Given the description of an element on the screen output the (x, y) to click on. 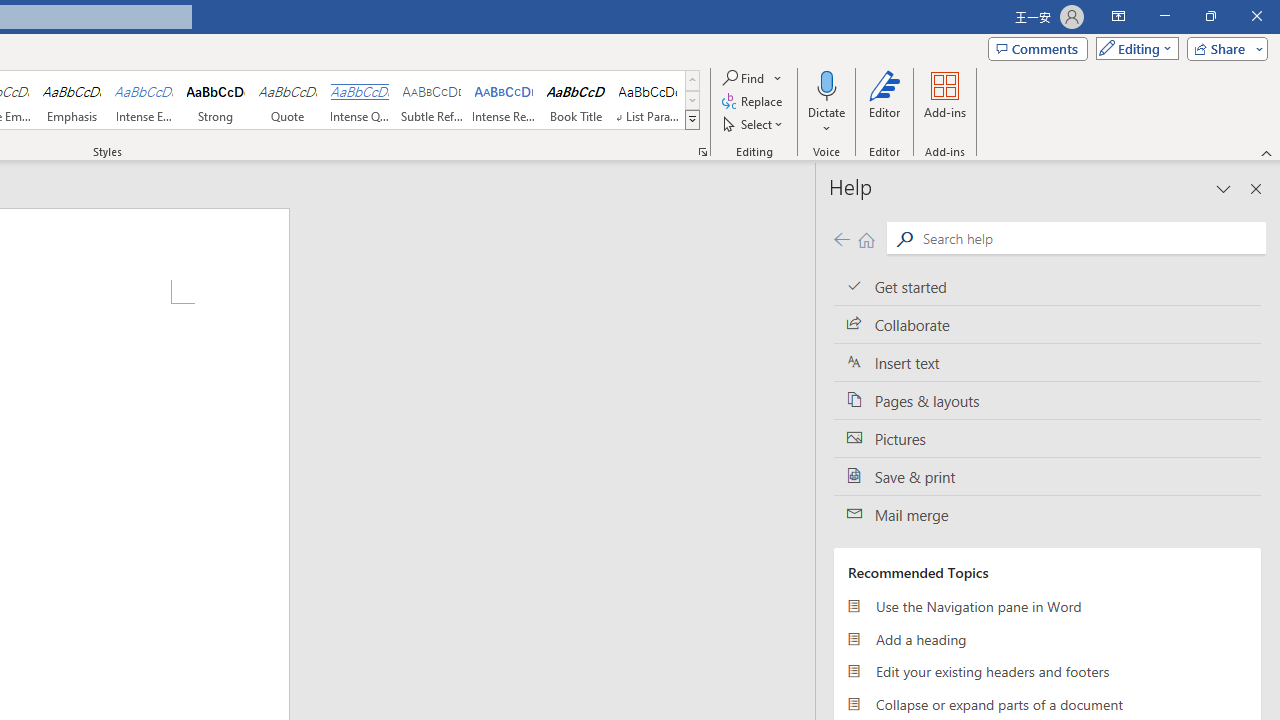
Previous page (841, 238)
Insert text (1047, 363)
Pictures (1047, 438)
Task Pane Options (1224, 188)
Mode (1133, 47)
Edit your existing headers and footers (1047, 672)
Editor (885, 102)
Close pane (1256, 188)
Add a heading (1047, 638)
Quote (287, 100)
